Given the description of an element on the screen output the (x, y) to click on. 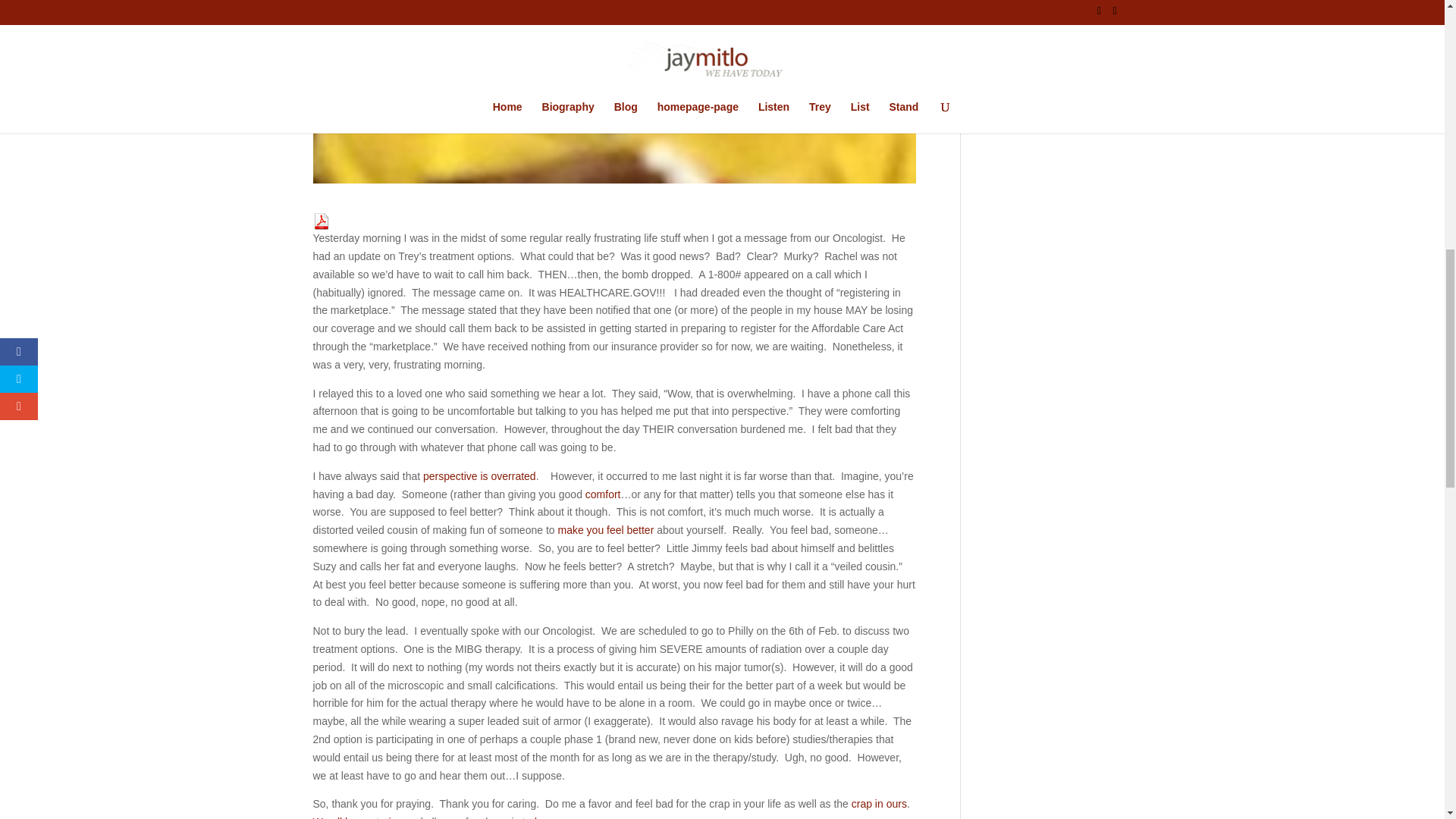
We all have stories (357, 817)
Download PDF (321, 219)
comfort (603, 494)
crap in ours (879, 803)
Wisdom in a tire shop (879, 803)
read this in regards to pirating emotional needs (603, 530)
We Have Today (534, 817)
make you feel better (603, 530)
Perspective  (479, 476)
Comfort (603, 494)
